Given the description of an element on the screen output the (x, y) to click on. 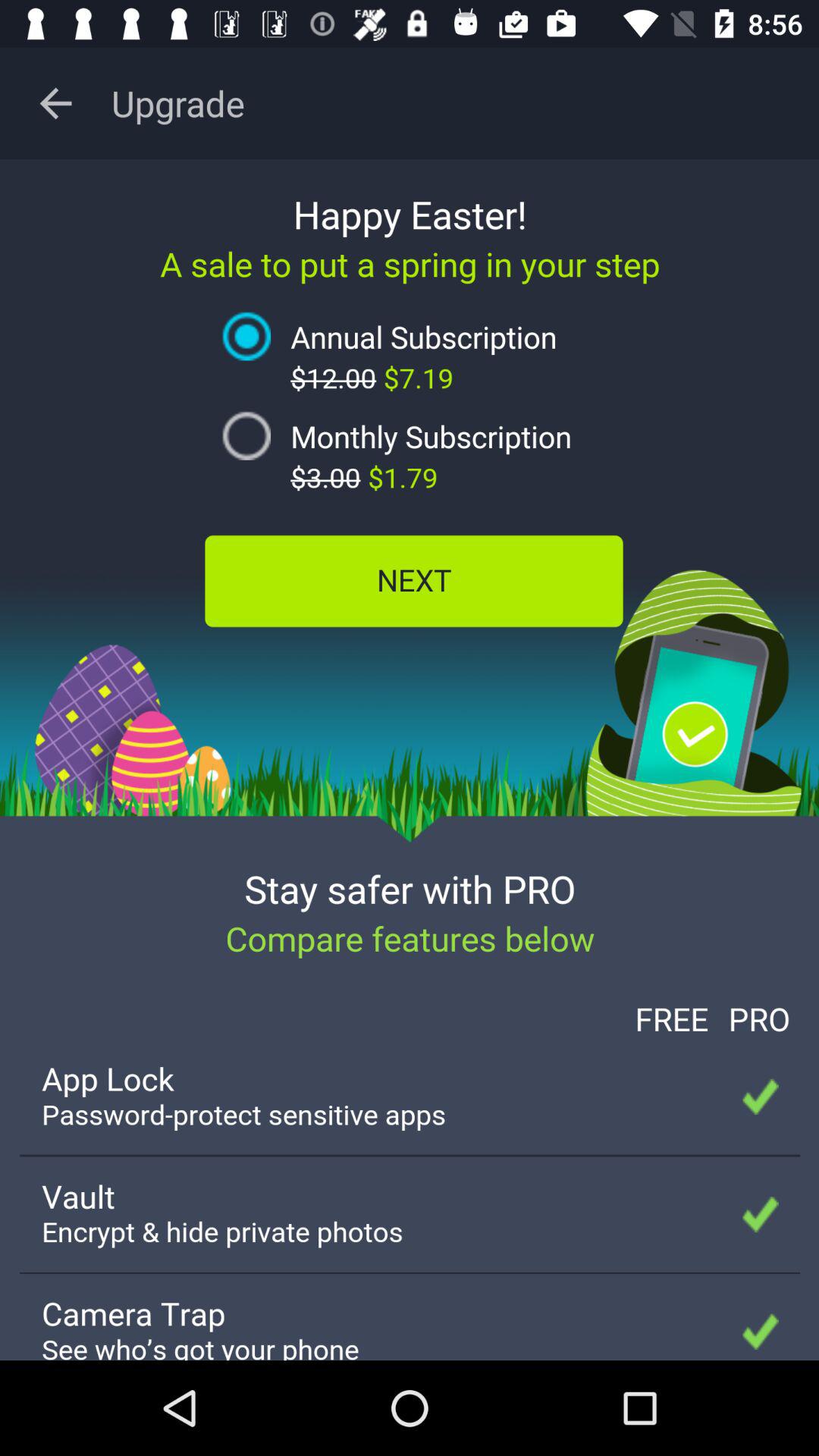
click on the main screen (409, 759)
